Given the description of an element on the screen output the (x, y) to click on. 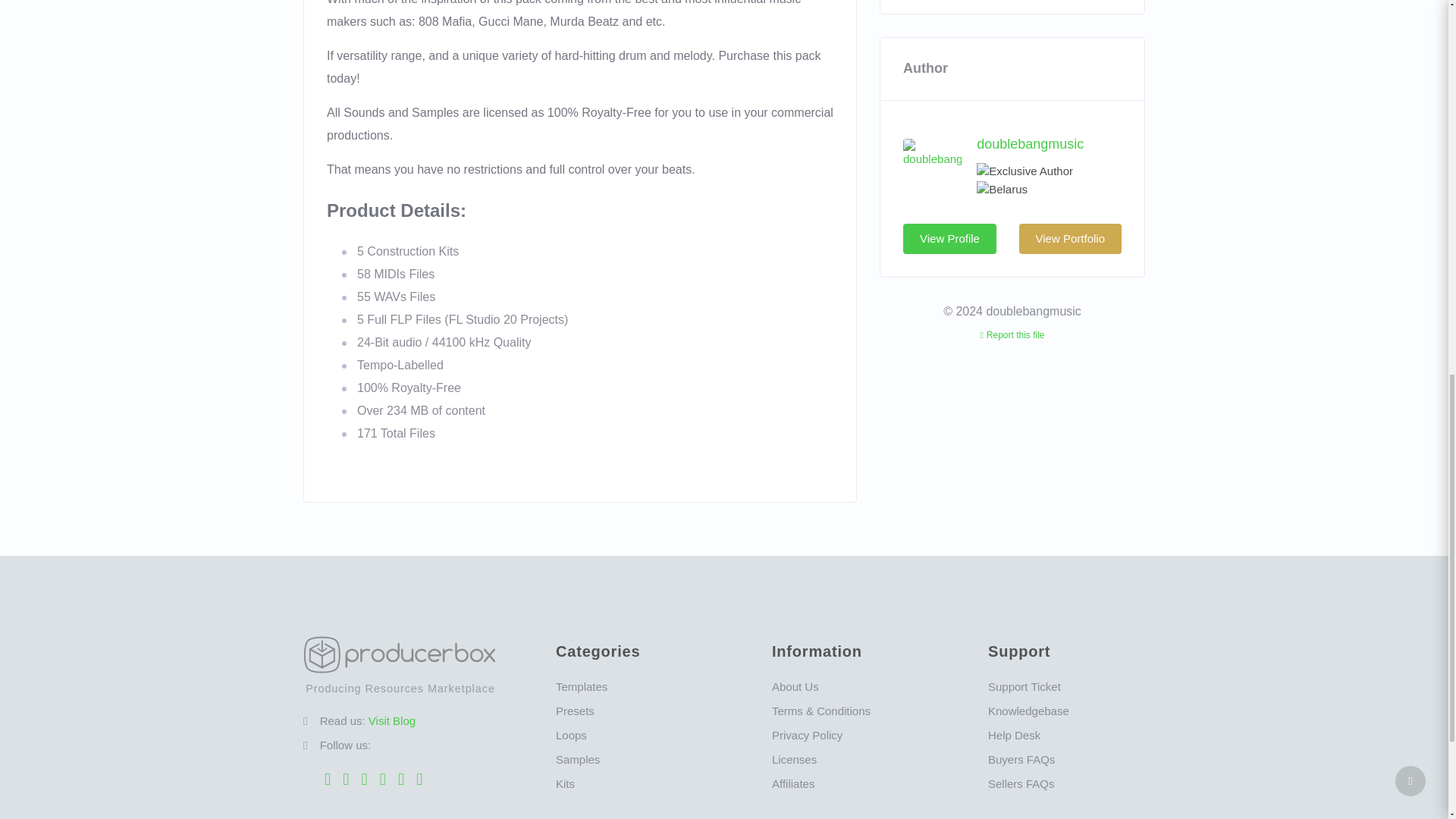
View doublebangmusic profile (1029, 143)
Belarus (1001, 189)
View doublebangmusic profile (931, 151)
Exclusive Author (1024, 171)
